Given the description of an element on the screen output the (x, y) to click on. 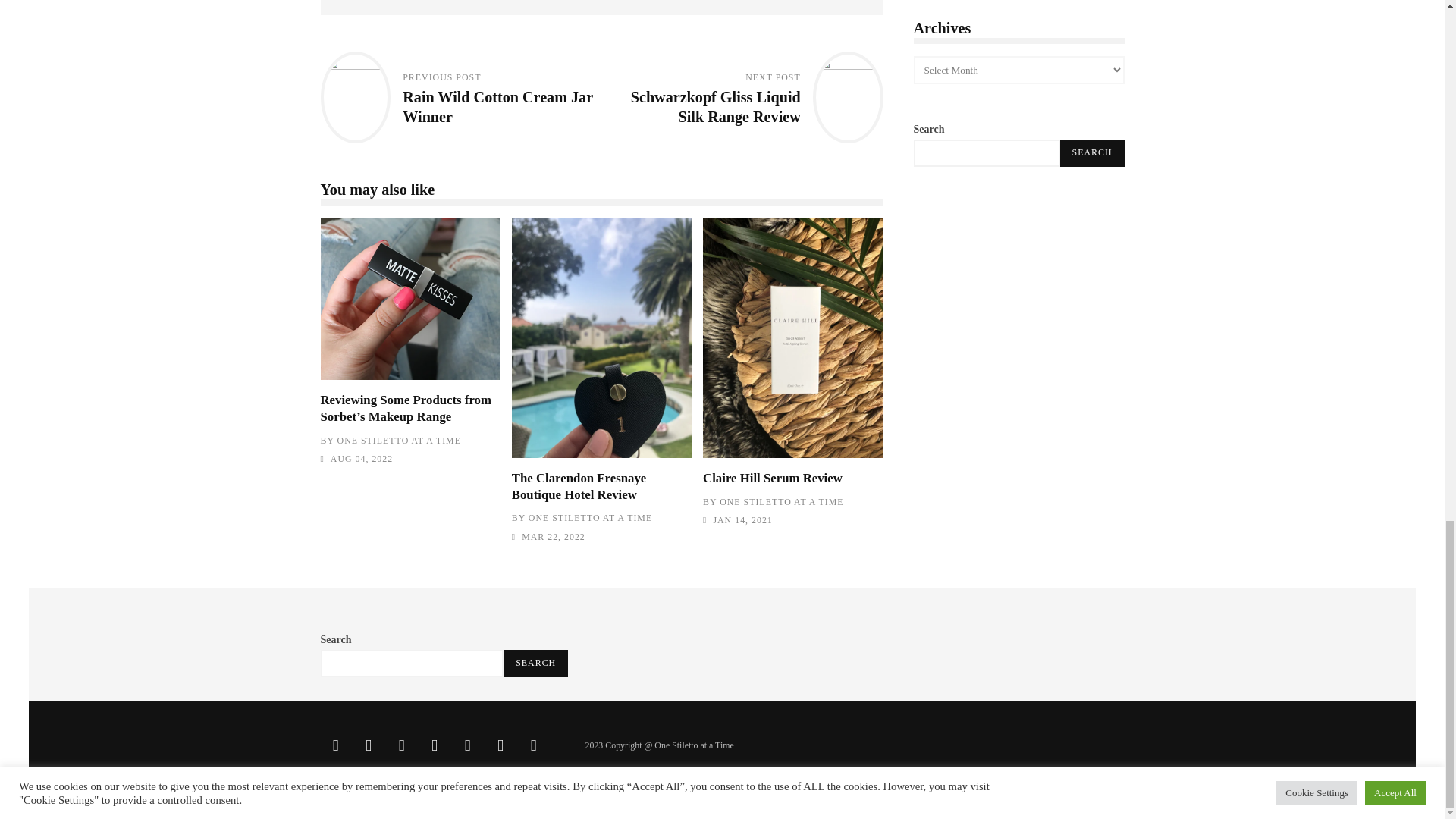
Posts by One Stiletto At A Time (399, 439)
Posts by One Stiletto At A Time (590, 517)
Posts by One Stiletto At A Time (781, 501)
